Given the description of an element on the screen output the (x, y) to click on. 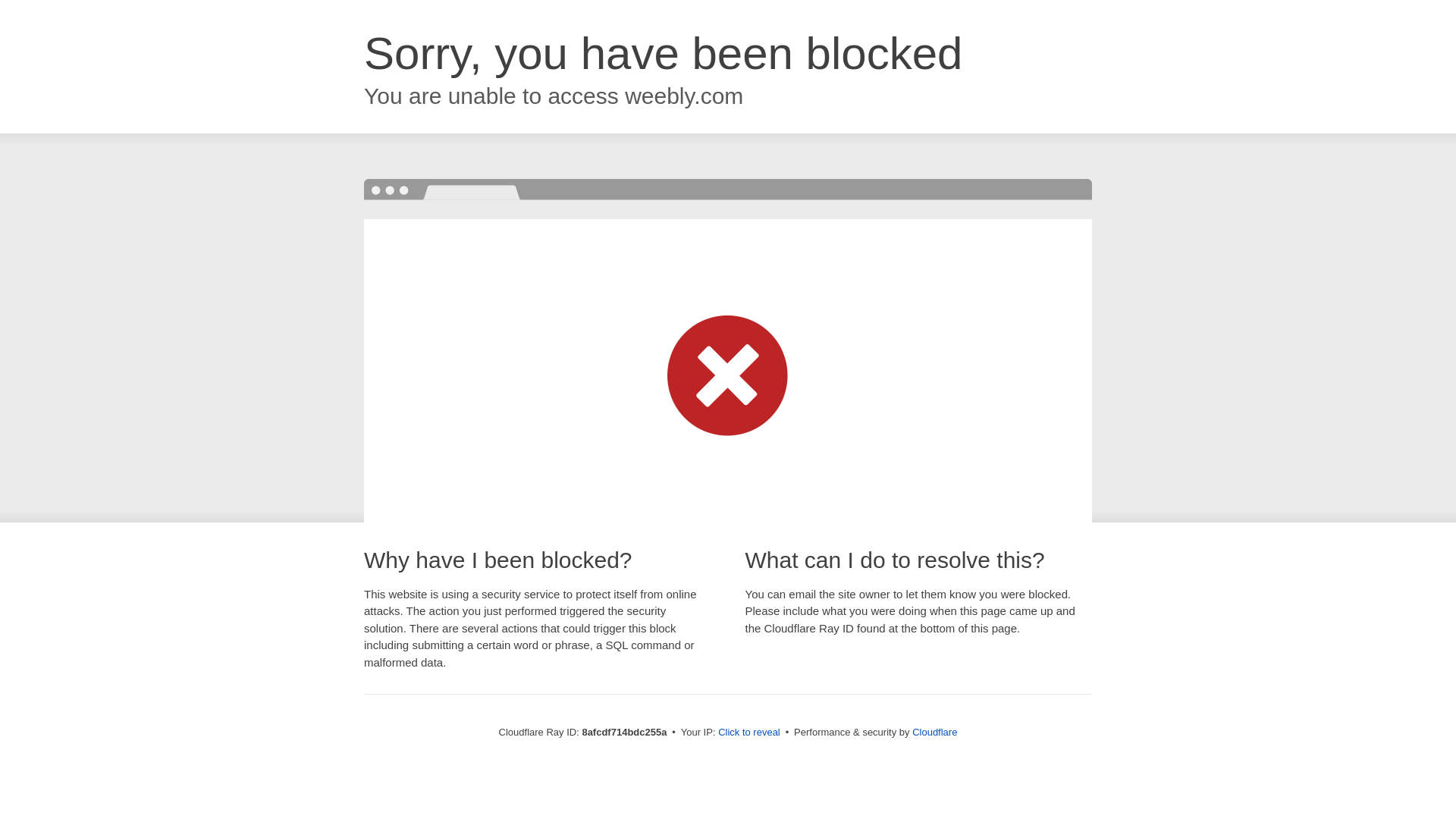
Click to reveal (748, 732)
Cloudflare (934, 731)
